Given the description of an element on the screen output the (x, y) to click on. 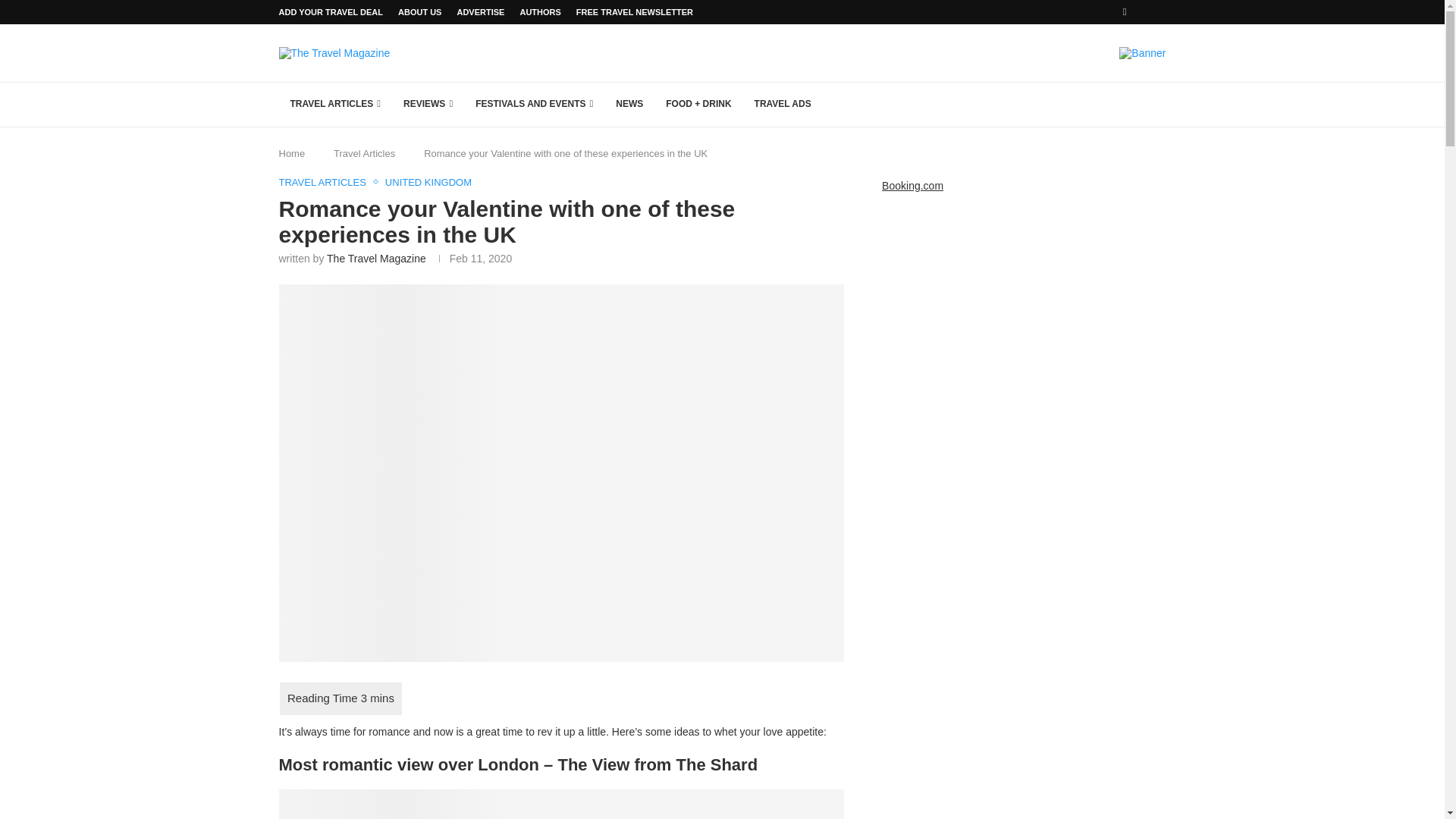
Travel Articles (336, 104)
ABOUT US (419, 12)
Home (292, 153)
TRAVEL ARTICLES (336, 104)
FREE TRAVEL NEWSLETTER (634, 12)
Travel News (628, 104)
Travel Reviews (427, 104)
ADVERTISE (480, 12)
NEWS (628, 104)
